Given the description of an element on the screen output the (x, y) to click on. 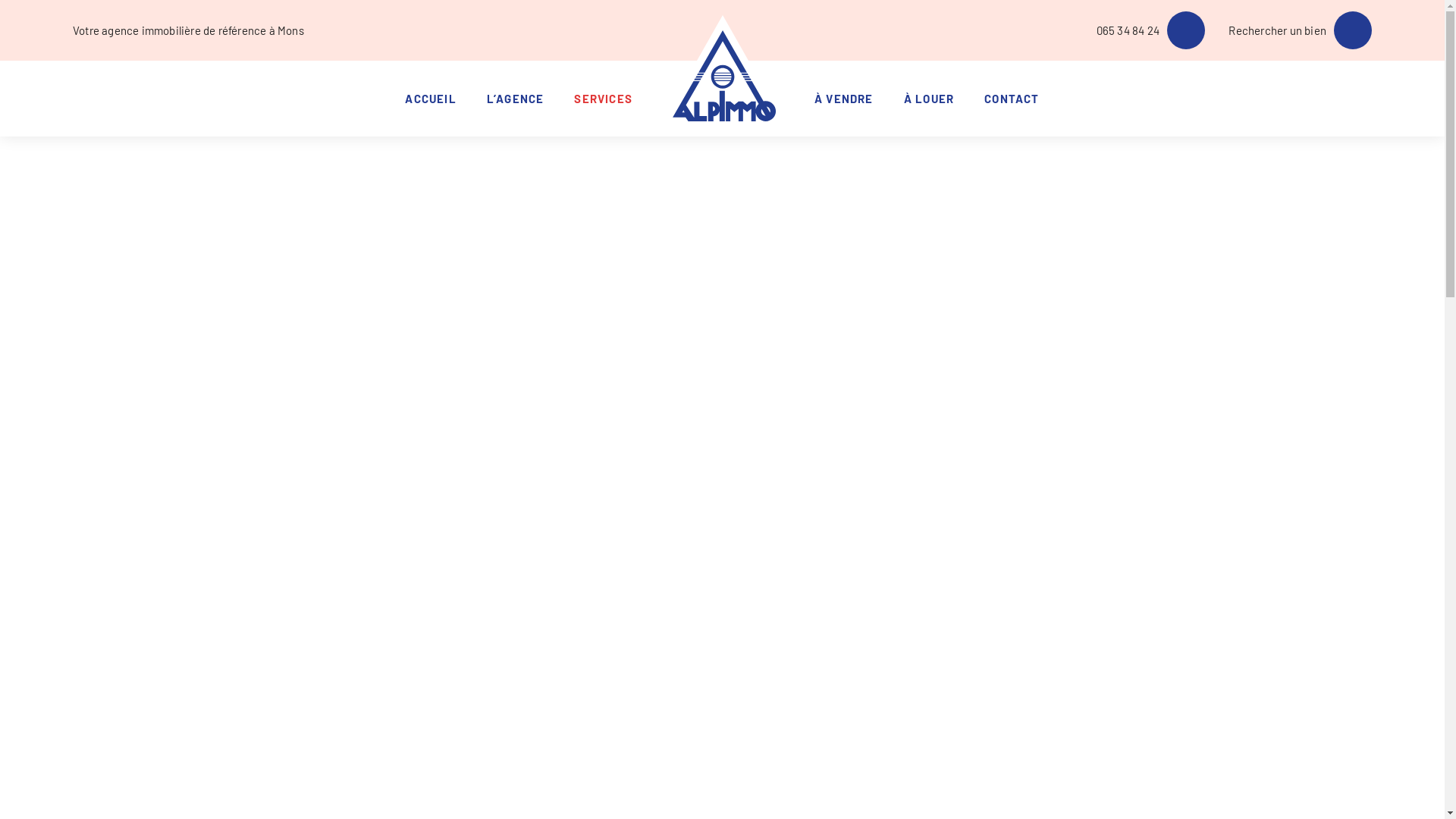
CONTACT Element type: text (1011, 98)
Alpimmo Element type: hover (722, 71)
ACCUEIL Element type: text (429, 98)
SERVICES Element type: text (603, 98)
065 34 84 24 Element type: text (1150, 30)
